Given the description of an element on the screen output the (x, y) to click on. 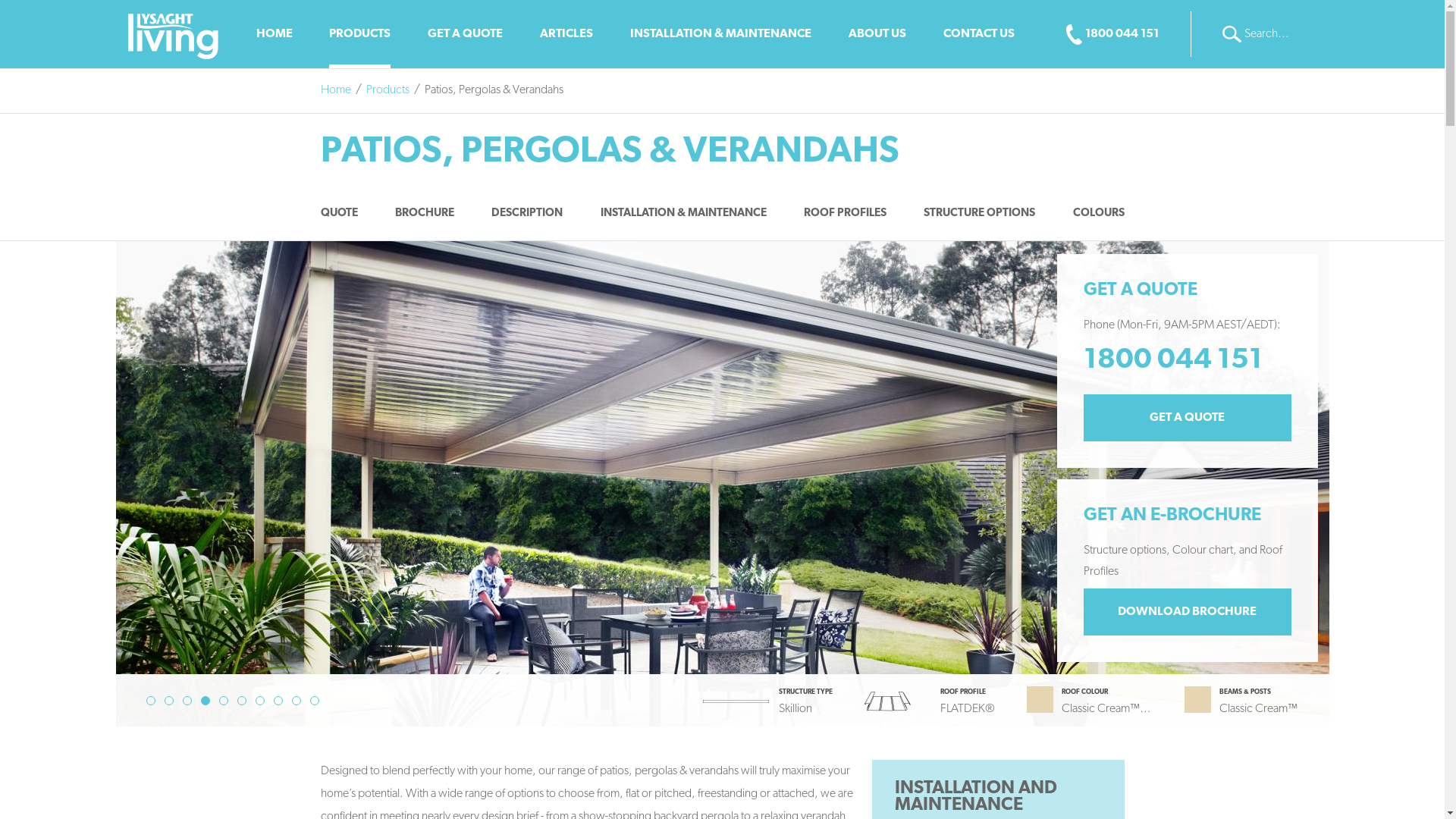
ARTICLES Element type: text (566, 34)
DESCRIPTION Element type: text (526, 215)
CONTACT US Element type: text (978, 34)
Products Element type: text (386, 90)
Skip to main content Element type: text (0, 68)
STRUCTURE OPTIONS Element type: text (979, 215)
INSTALLATION & MAINTENANCE Element type: text (720, 34)
BROCHURE Element type: text (424, 215)
ROOF PROFILES Element type: text (844, 215)
INSTALLATION & MAINTENANCE Element type: text (683, 215)
DOWNLOAD BROCHURE Element type: text (1186, 611)
ABOUT US Element type: text (877, 34)
Home Element type: text (335, 90)
PRODUCTS Element type: text (359, 34)
GET A QUOTE Element type: text (464, 34)
COLOURS Element type: text (1098, 215)
Enter the terms you wish to search for. Element type: hover (1259, 33)
Lysaght Living Element type: text (172, 34)
GET A QUOTE Element type: text (1186, 417)
QUOTE Element type: text (338, 215)
HOME Element type: text (274, 34)
